Given the description of an element on the screen output the (x, y) to click on. 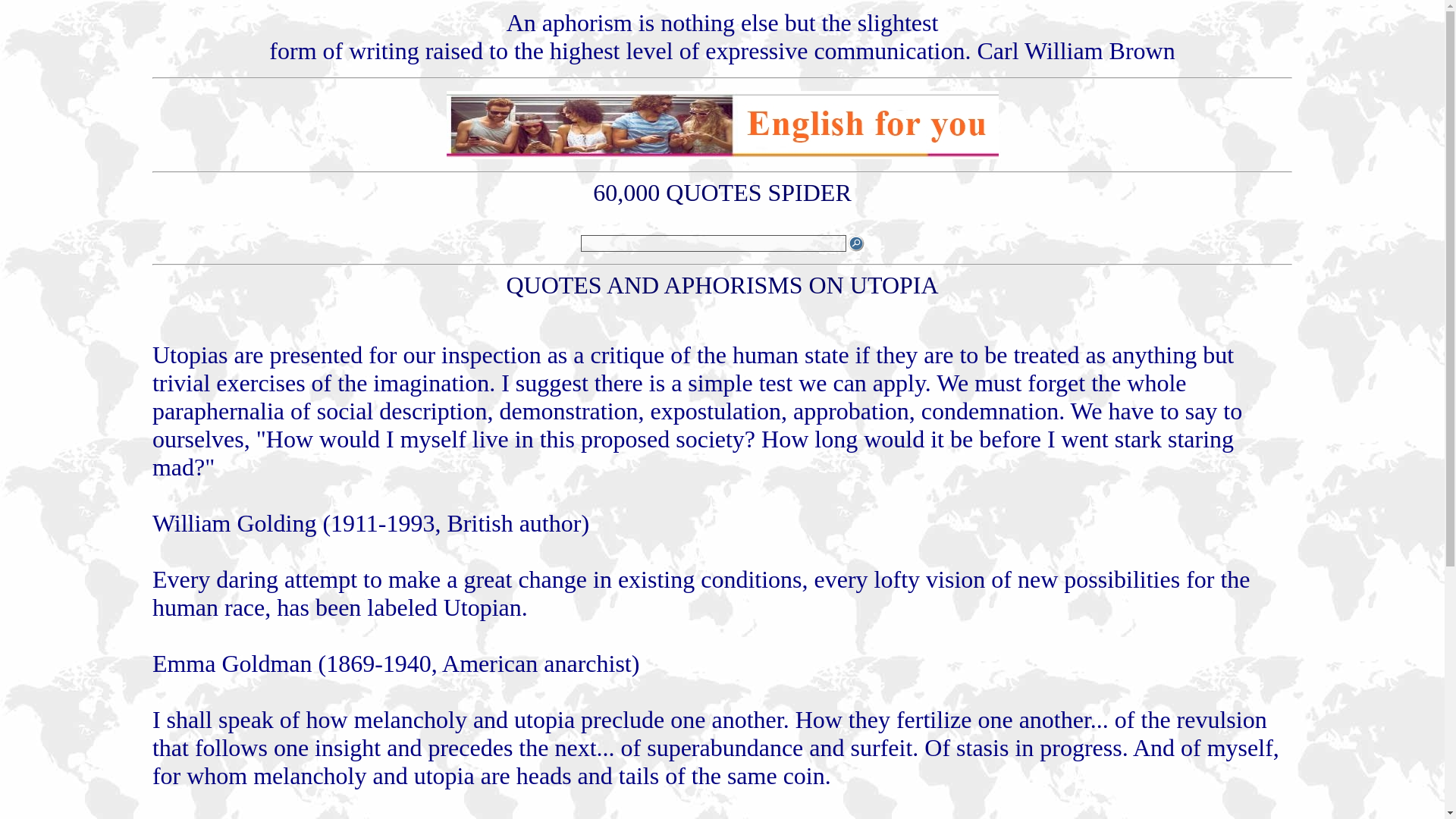
English culture blog and quotes (721, 154)
